Given the description of an element on the screen output the (x, y) to click on. 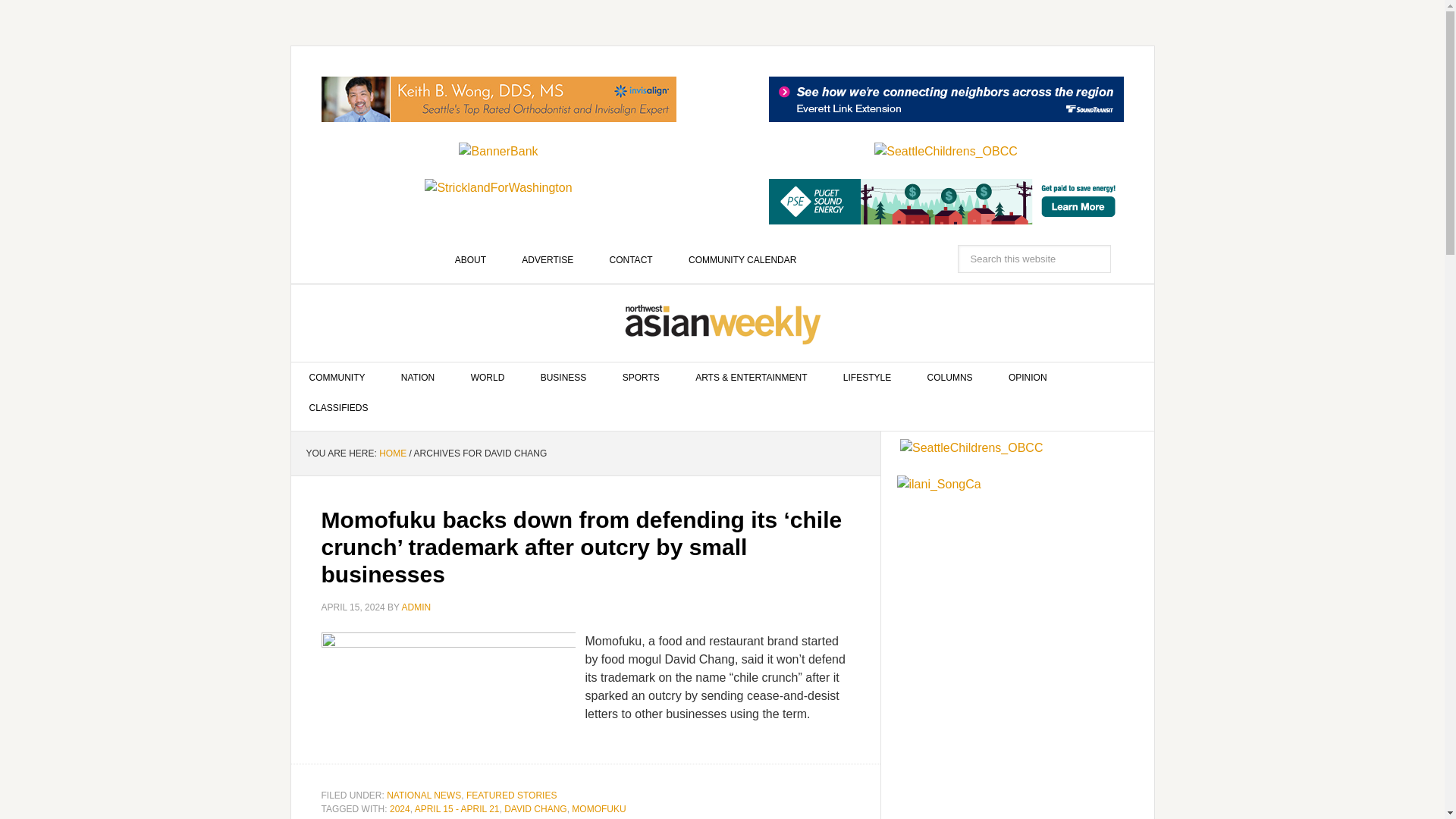
NATION (417, 377)
CLASSIFIEDS (339, 408)
COMMUNITY (337, 377)
ABOUT (469, 259)
LIFESTYLE (866, 377)
BUSINESS (563, 377)
WORLD (487, 377)
SPORTS (641, 377)
